Given the description of an element on the screen output the (x, y) to click on. 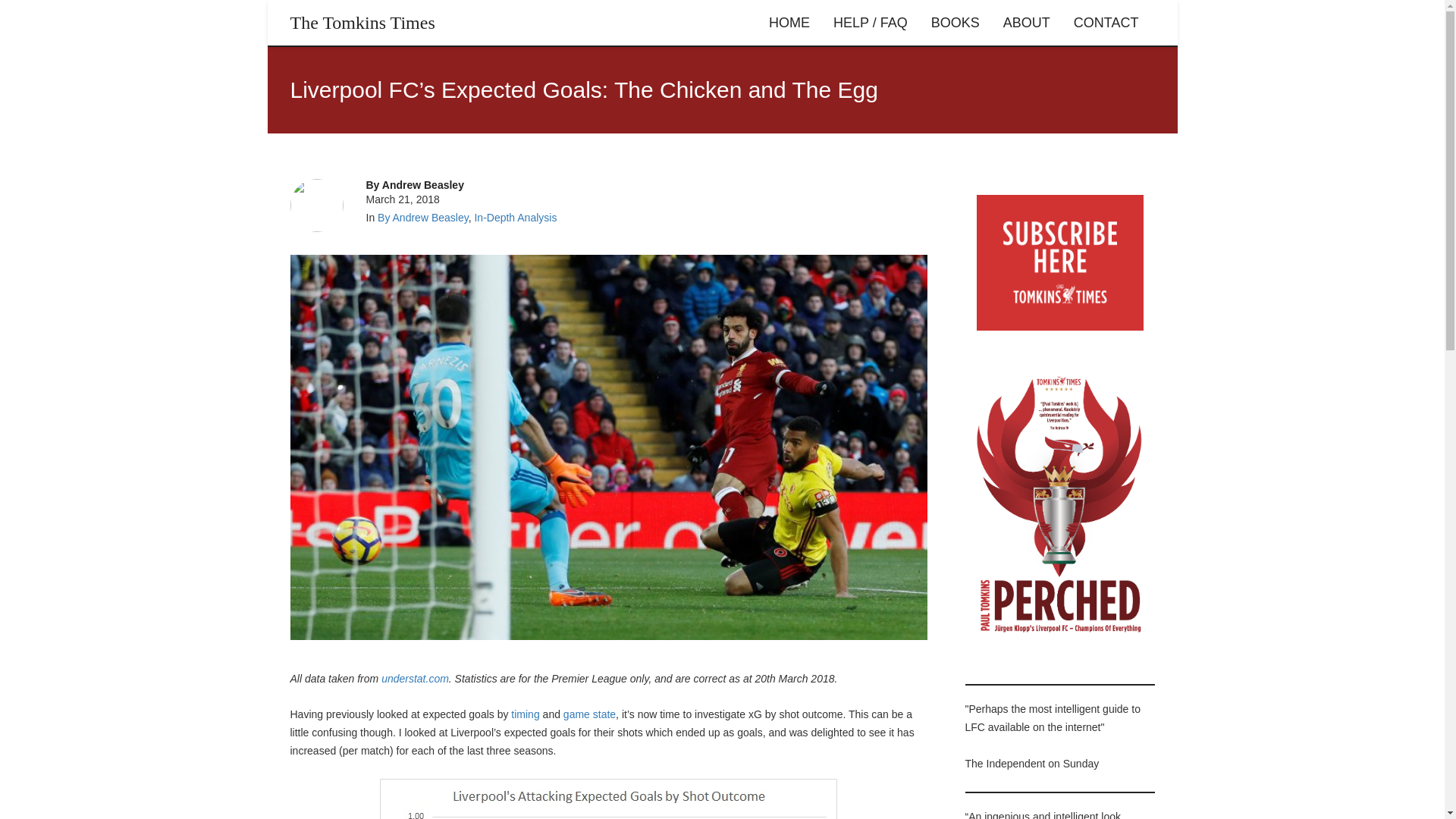
timing (524, 714)
understat.com (414, 678)
BOOKS (955, 22)
ABOUT (1026, 22)
HOME (789, 22)
The Tomkins Times (361, 22)
In-Depth Analysis (515, 217)
CONTACT (1106, 22)
By Andrew Beasley (422, 217)
game state (589, 714)
